Given the description of an element on the screen output the (x, y) to click on. 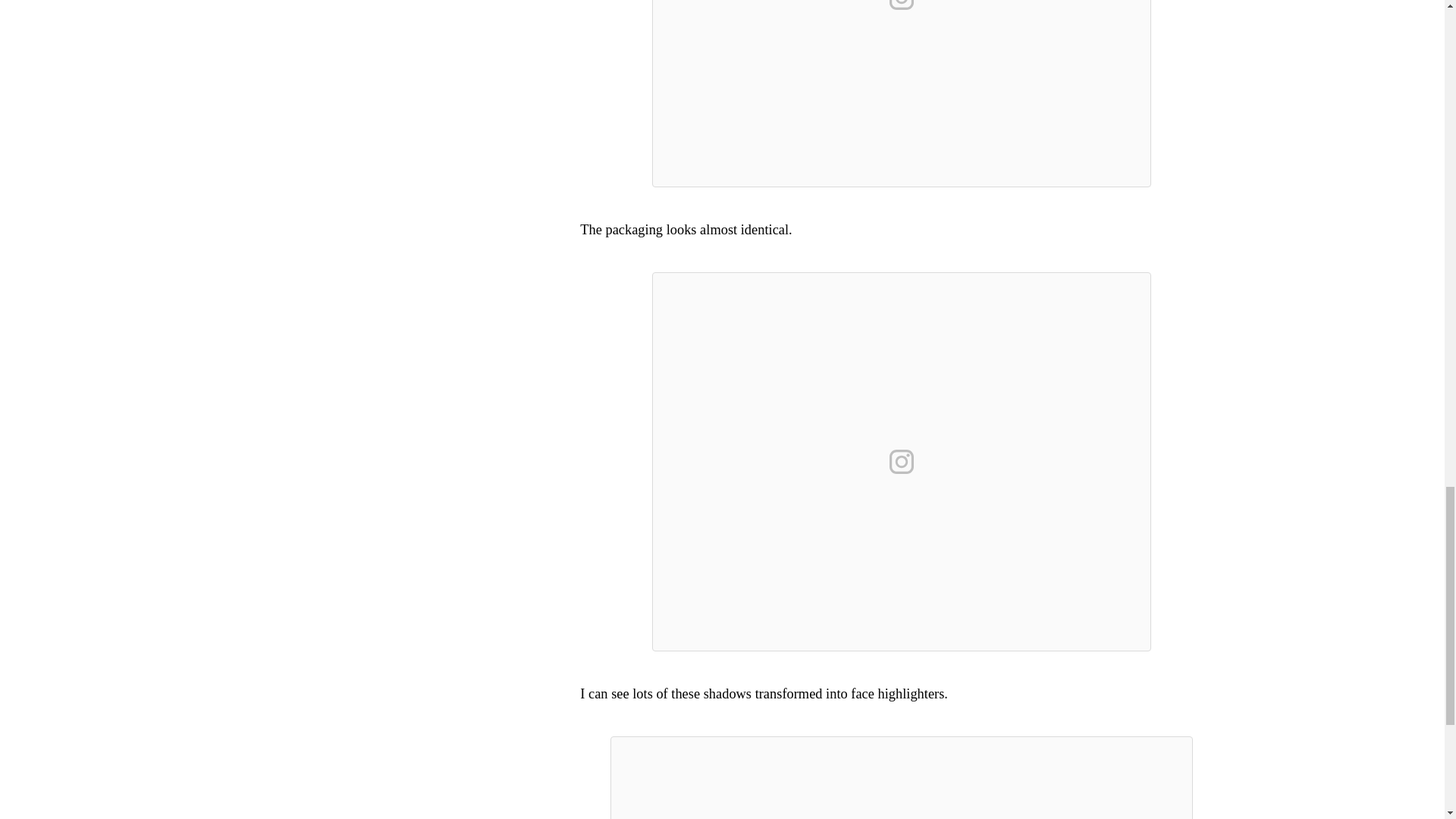
View on Instagram (901, 7)
View on Instagram (901, 461)
